Given the description of an element on the screen output the (x, y) to click on. 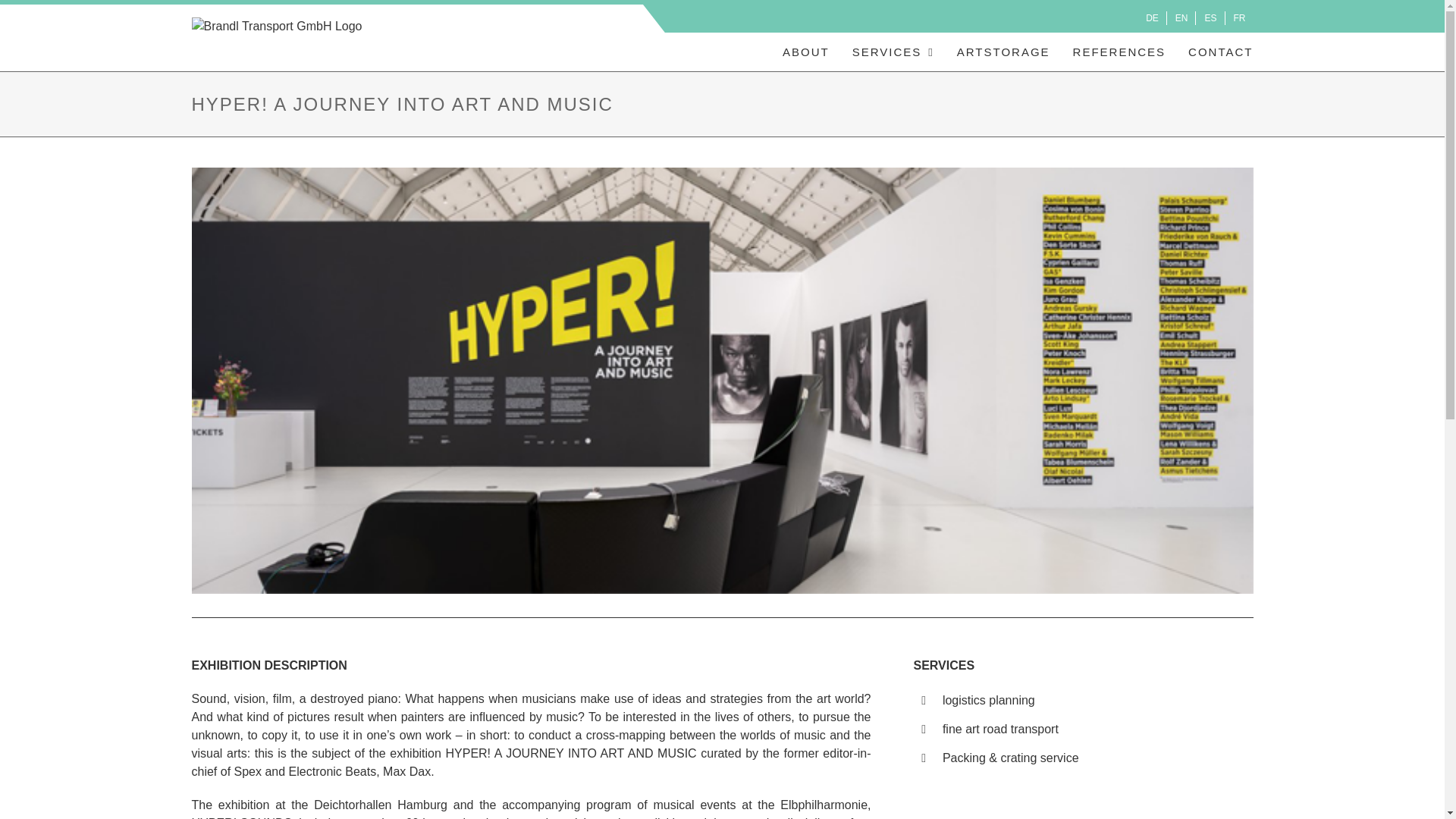
DE (1152, 17)
EN (1181, 17)
ARTSTORAGE (1002, 51)
ES (1210, 17)
REFERENCES (1119, 51)
ABOUT (806, 51)
CONTACT (1220, 51)
FR (1238, 17)
SERVICES (892, 51)
